Given the description of an element on the screen output the (x, y) to click on. 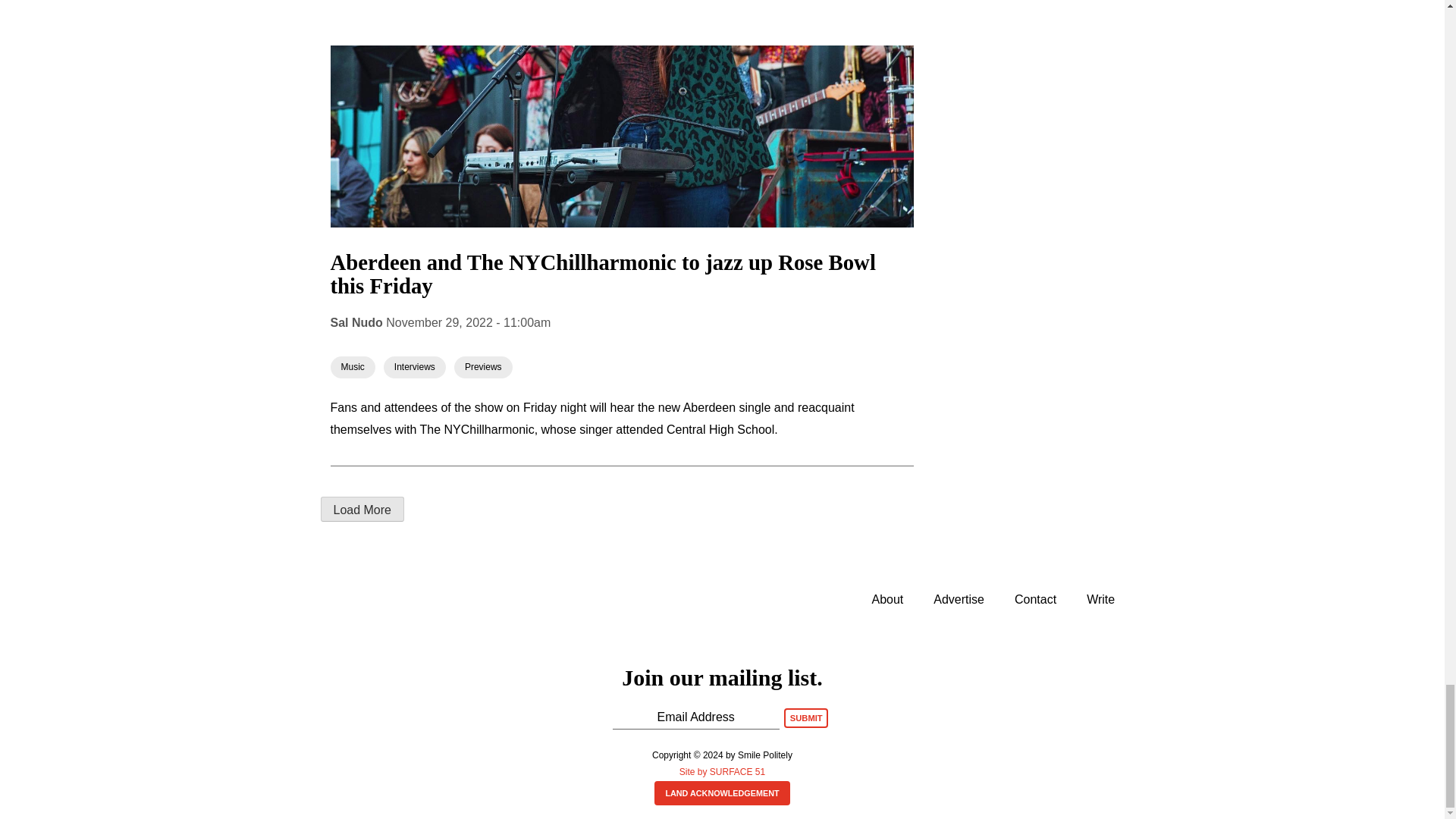
Submit (806, 718)
